Given the description of an element on the screen output the (x, y) to click on. 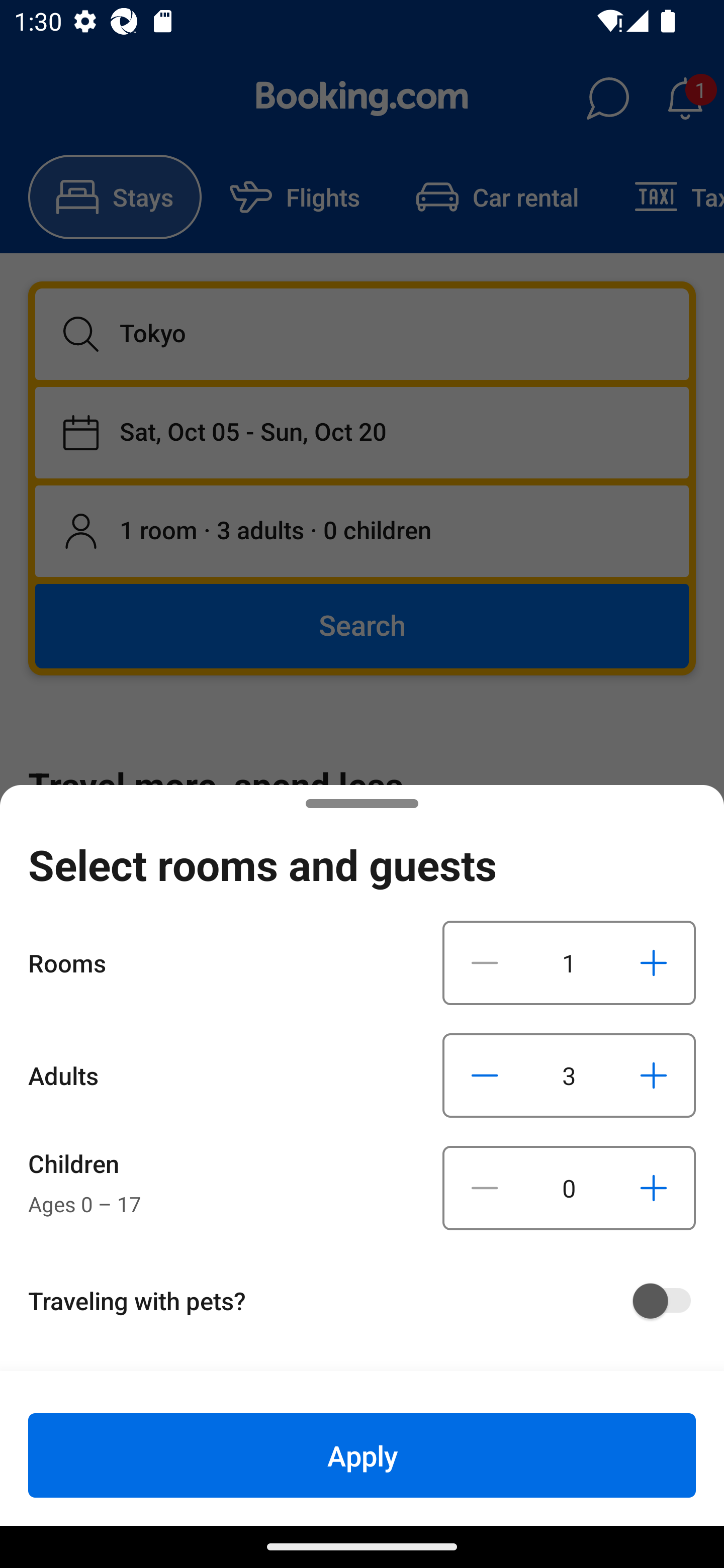
Decrease (484, 962)
Increase (653, 962)
Decrease (484, 1075)
Increase (653, 1075)
Decrease (484, 1188)
Increase (653, 1188)
Traveling with pets? (369, 1300)
Apply (361, 1454)
